Given the description of an element on the screen output the (x, y) to click on. 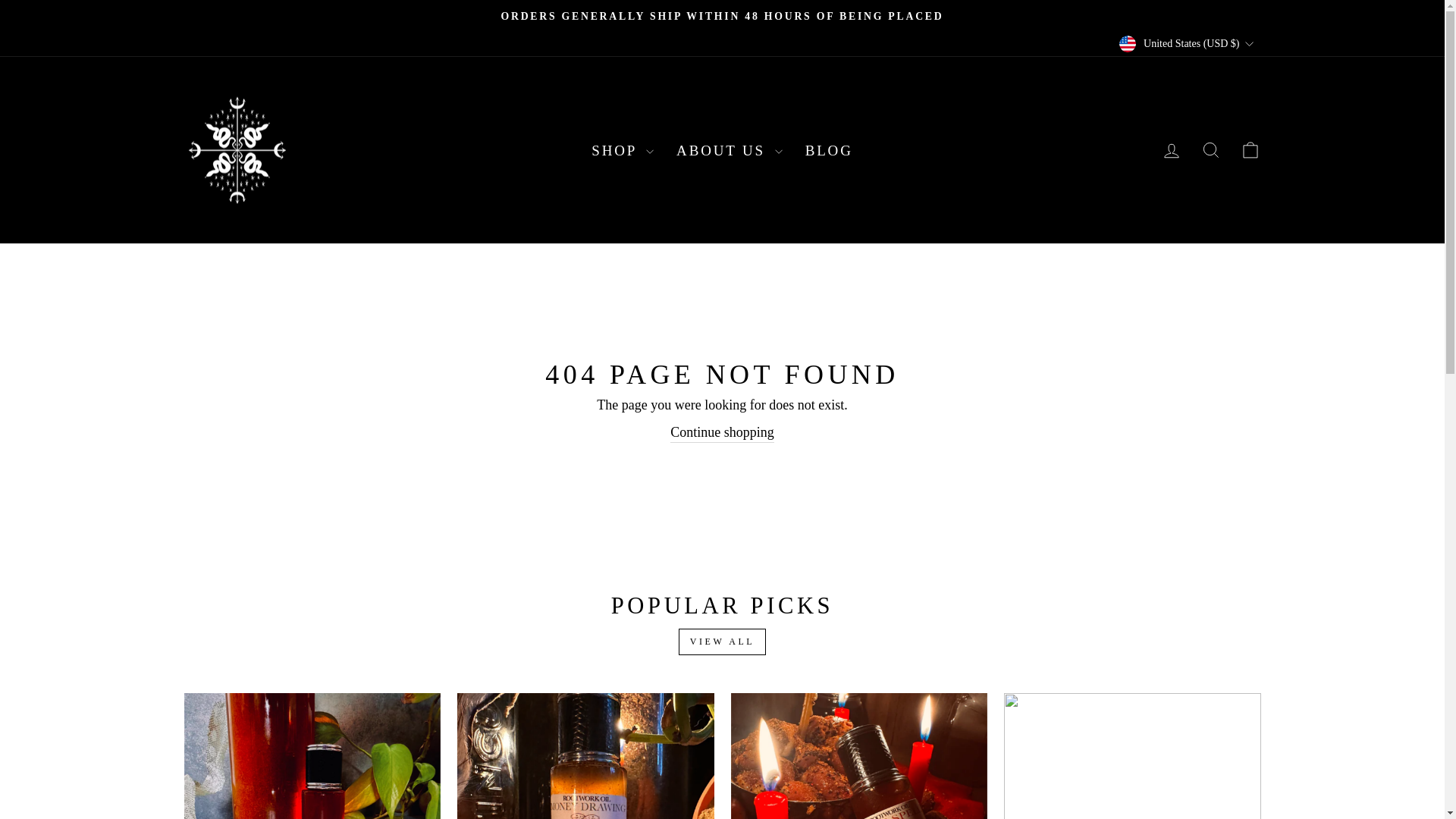
ACCOUNT (1170, 150)
ICON-SEARCH (1210, 149)
ICON-BAG-MINIMAL (1249, 149)
